Given the description of an element on the screen output the (x, y) to click on. 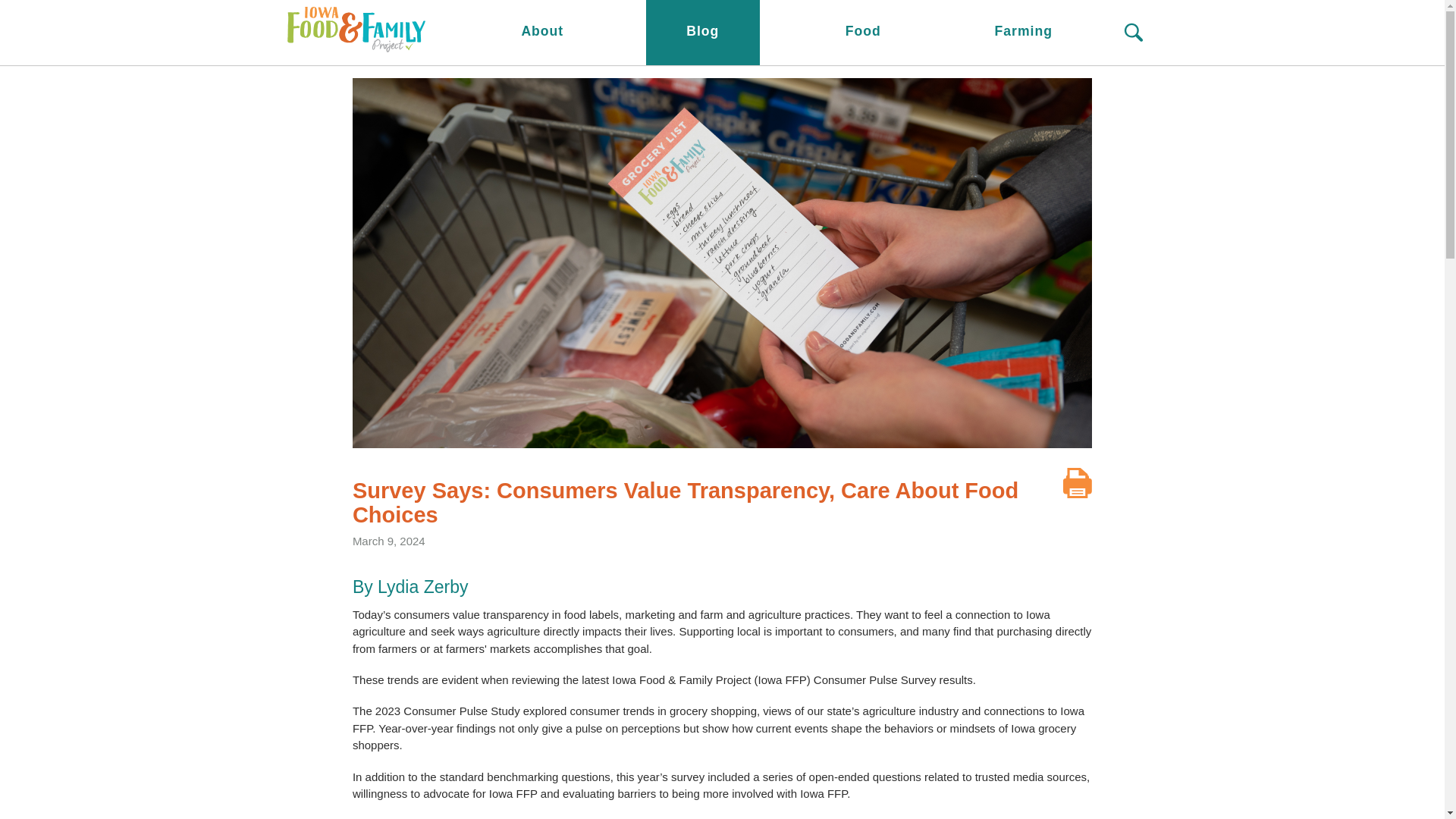
Farming (1023, 32)
Food (863, 32)
Search (1133, 32)
About (541, 32)
Blog (703, 32)
Iowa Food and Family Logo (353, 32)
